Given the description of an element on the screen output the (x, y) to click on. 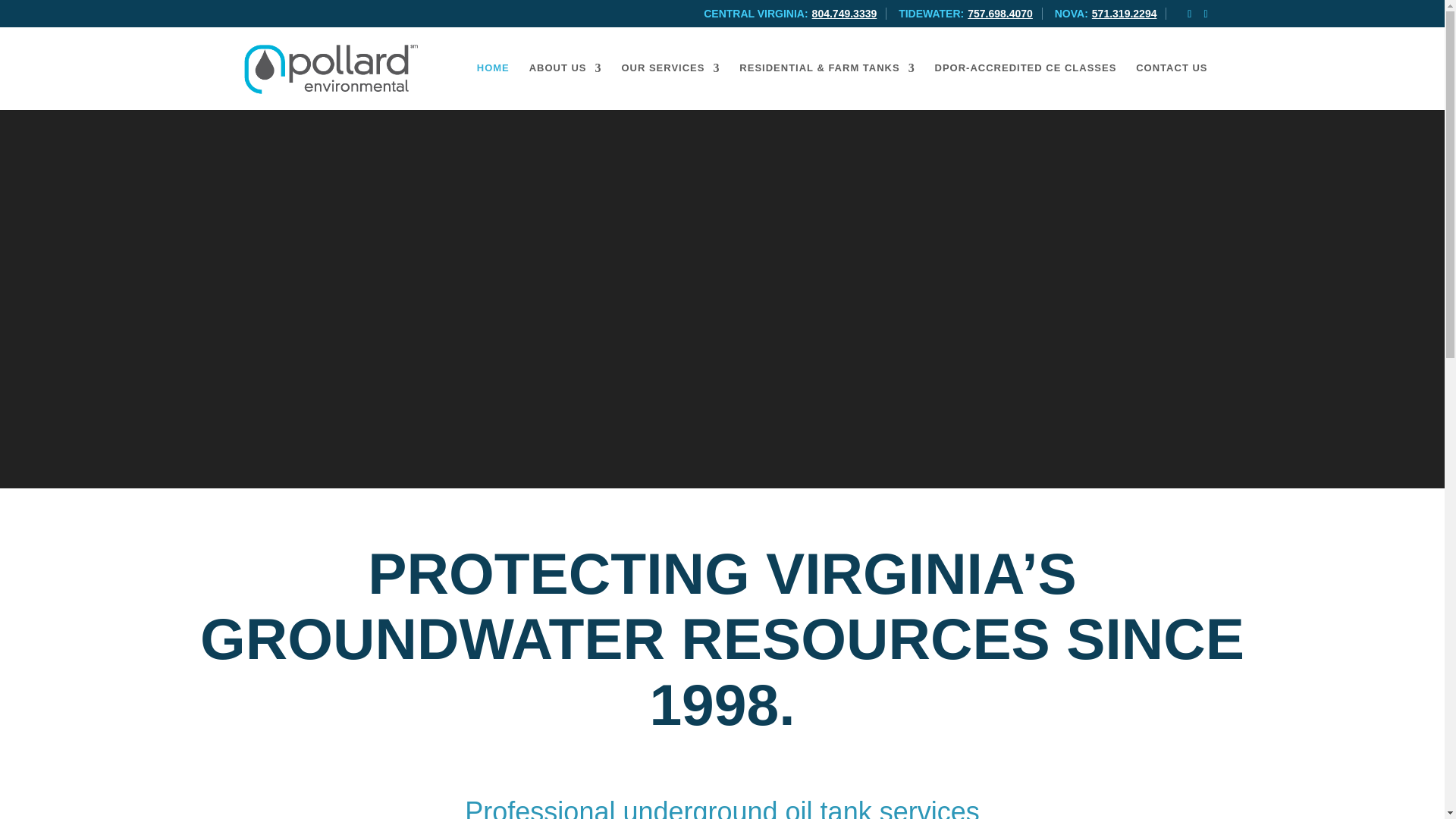
HOME (493, 86)
OUR SERVICES (670, 86)
Pollard Environmental - Tidewater Office (1000, 13)
Pollard Environmental - Central Virginia Office (844, 13)
804.749.3339 (844, 13)
757.698.4070 (1000, 13)
ABOUT US (565, 86)
571.319.2294 (1124, 13)
Pollard Environmental - NOVA Office (1124, 13)
DPOR-ACCREDITED CE CLASSES (1025, 86)
CONTACT US (1171, 86)
